Given the description of an element on the screen output the (x, y) to click on. 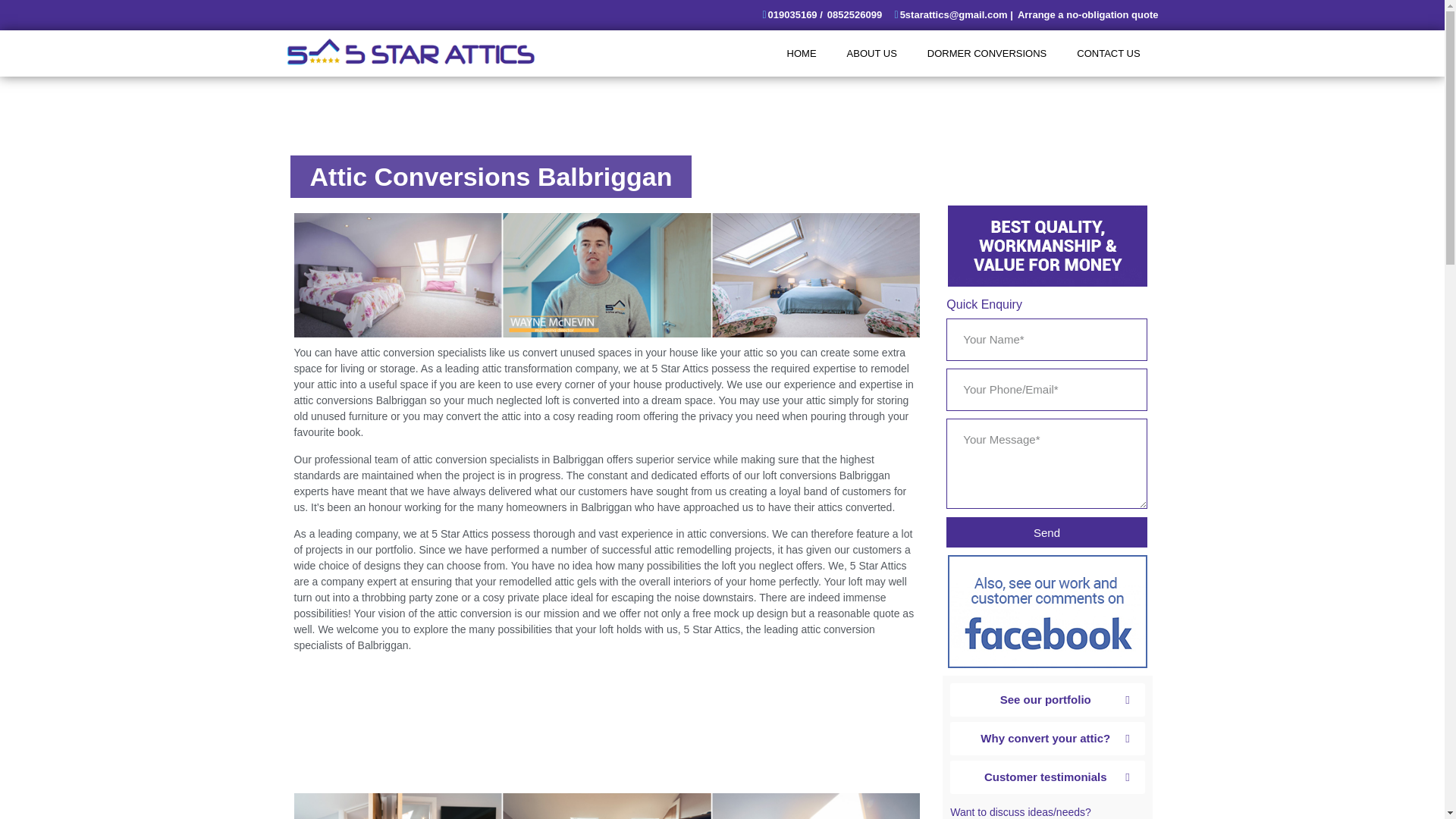
Customer testimonials (1047, 776)
Ashtown (607, 728)
Send (1046, 531)
DORMER CONVERSIONS (986, 52)
See our portfolio (1047, 699)
ABOUT US (871, 52)
HOME (801, 52)
CONTACT US (1107, 52)
Why convert your attic? (1047, 738)
0852526099 (853, 14)
